Given the description of an element on the screen output the (x, y) to click on. 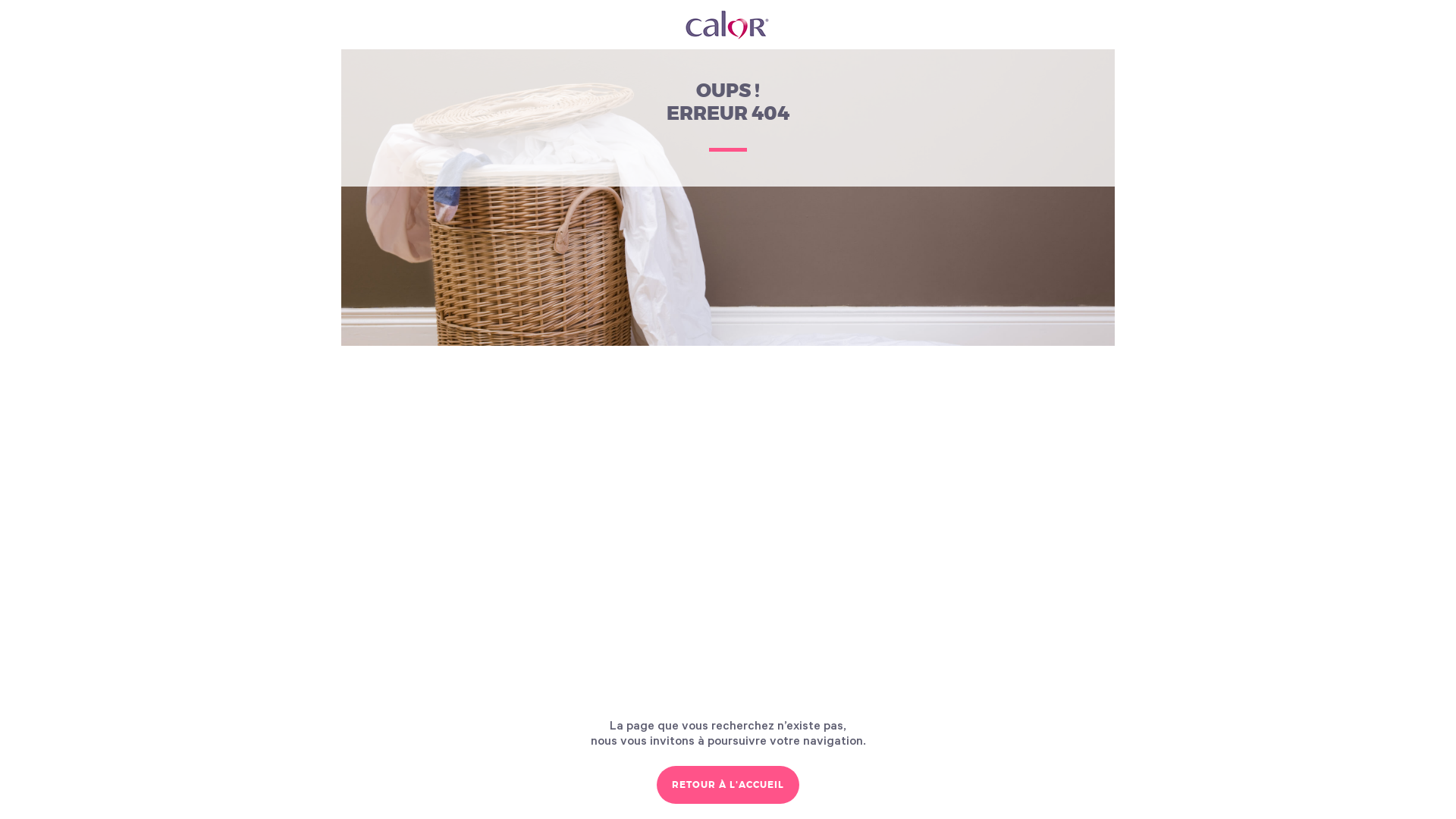
Calor France Element type: hover (727, 24)
